Given the description of an element on the screen output the (x, y) to click on. 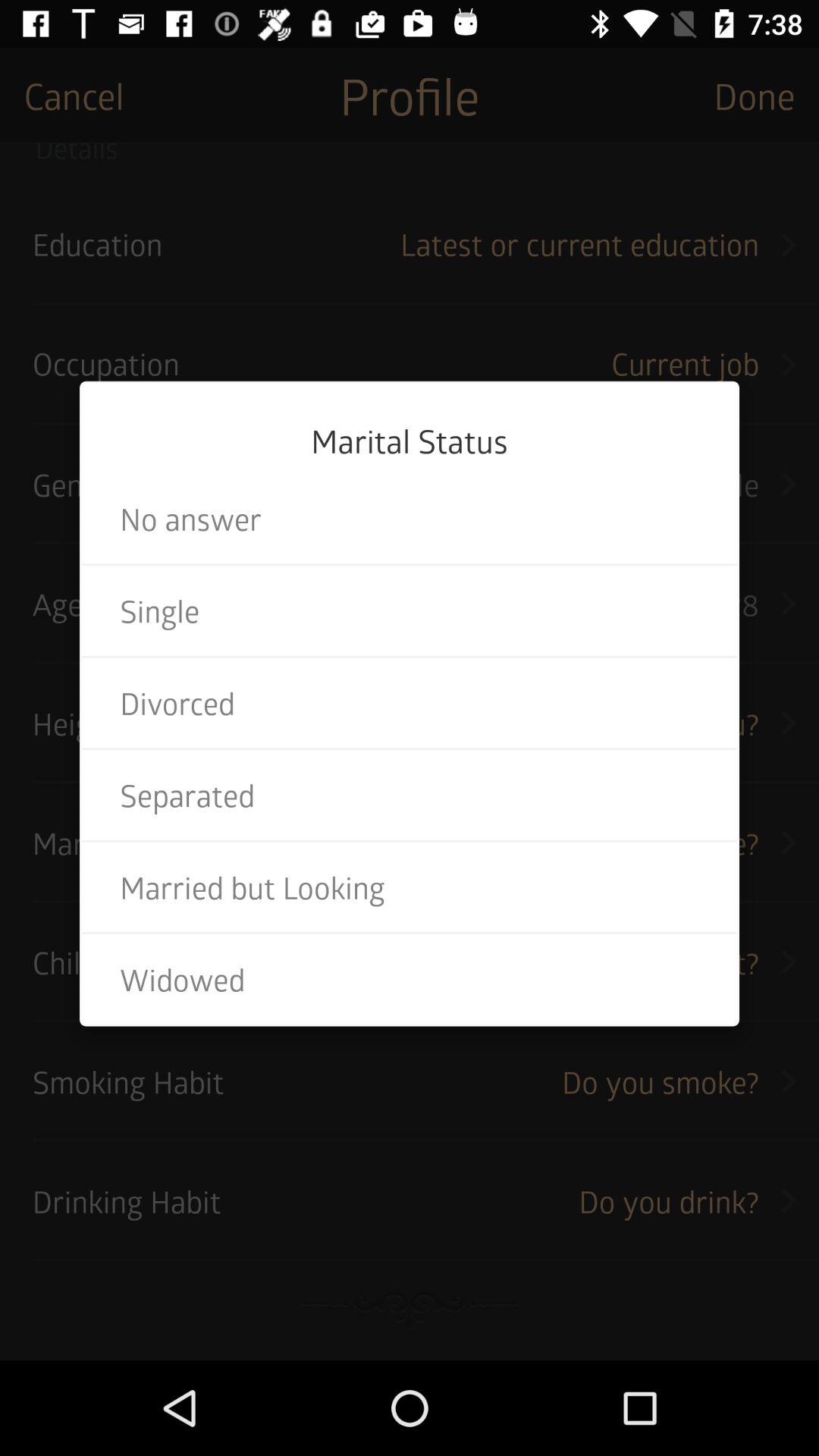
launch icon above married but looking icon (409, 795)
